Given the description of an element on the screen output the (x, y) to click on. 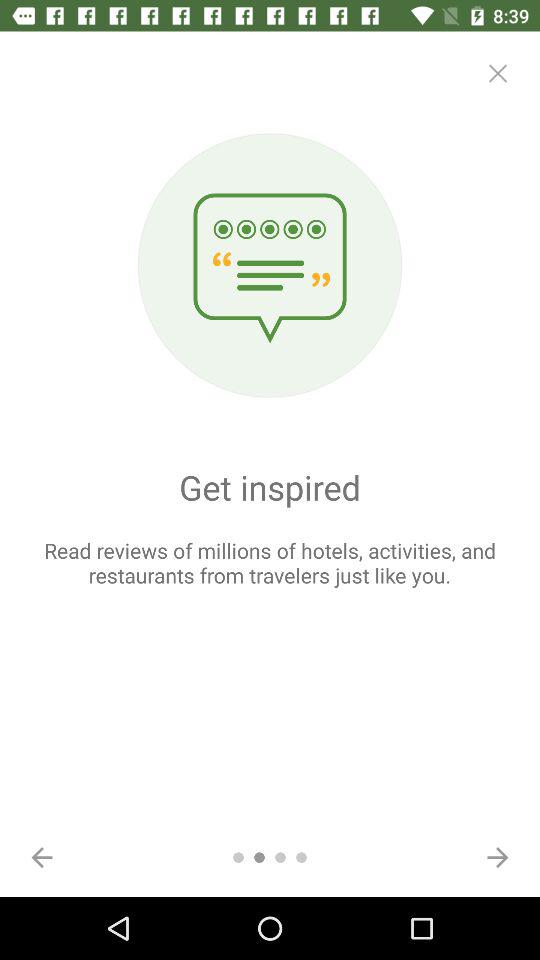
turn off item at the bottom left corner (42, 857)
